Given the description of an element on the screen output the (x, y) to click on. 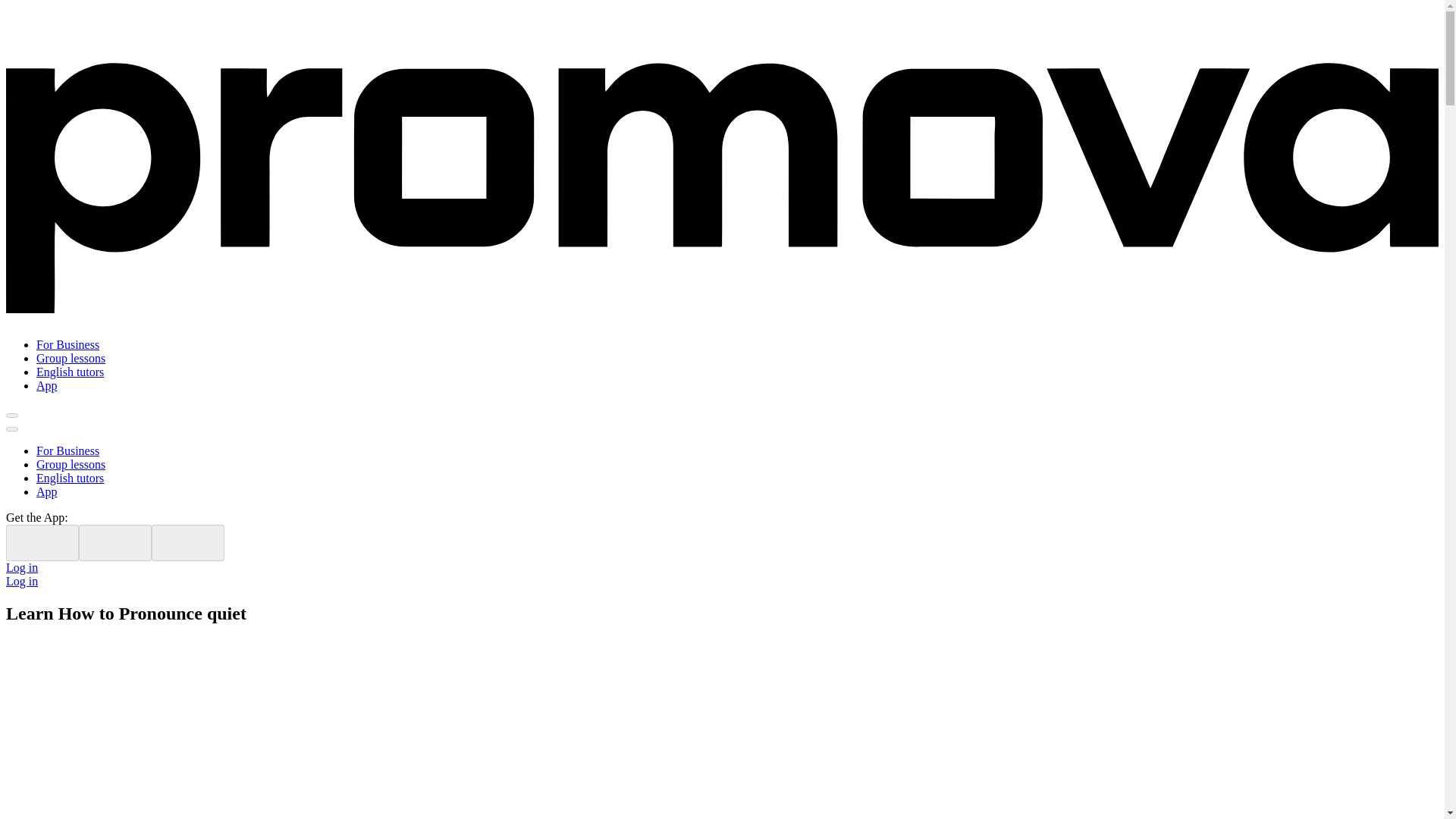
For Business (67, 450)
Group lessons (70, 358)
English tutors (69, 477)
English tutors (69, 371)
Log in (21, 567)
For Business (67, 344)
Group lessons (70, 463)
Log in (21, 581)
